Given the description of an element on the screen output the (x, y) to click on. 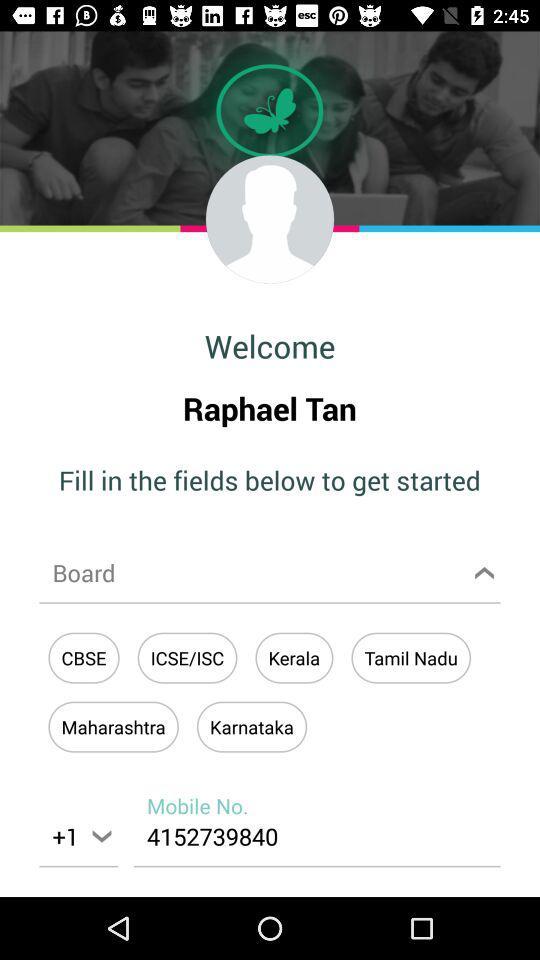
select an option (269, 572)
